Given the description of an element on the screen output the (x, y) to click on. 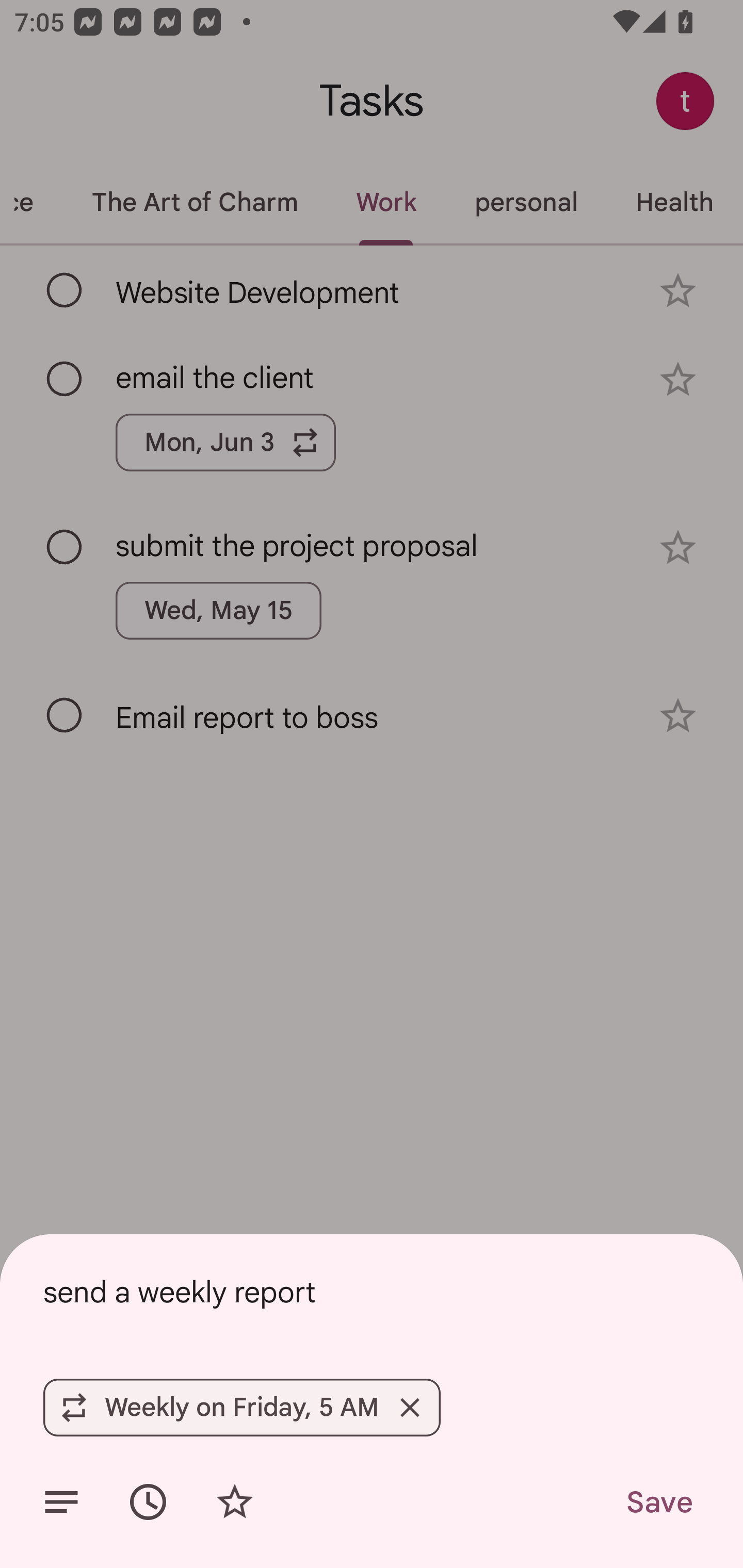
send a weekly report (371, 1291)
Save (659, 1501)
Add details (60, 1501)
Set date/time (147, 1501)
Add star (234, 1501)
